Given the description of an element on the screen output the (x, y) to click on. 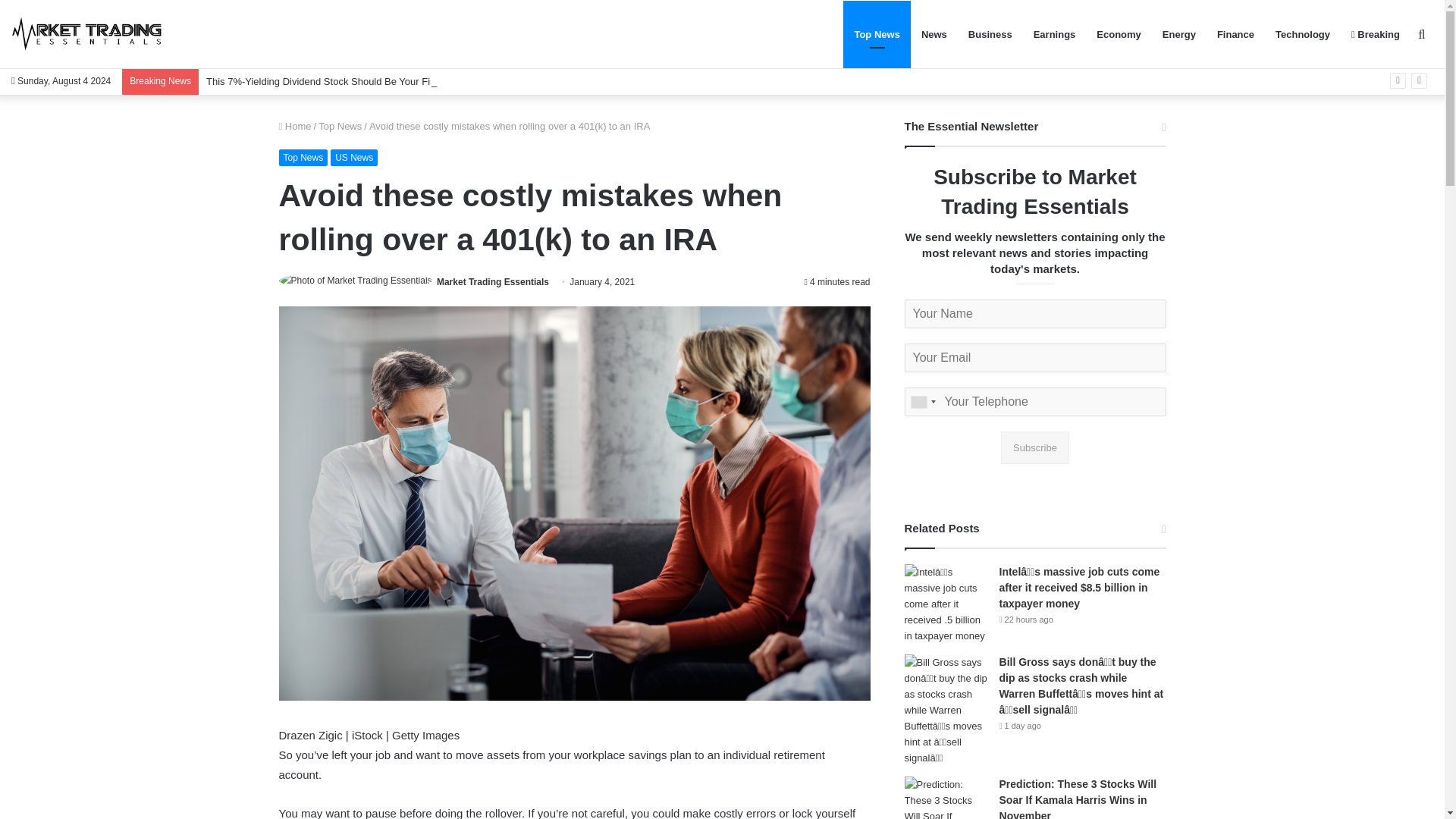
Technology (1302, 33)
US News (353, 157)
Home (295, 125)
Earnings (1054, 33)
Market Trading Essentials (87, 34)
Top News (876, 33)
Top News (339, 125)
Business (990, 33)
Market Trading Essentials (492, 281)
Breaking (1375, 33)
Economy (1118, 33)
Top News (304, 157)
Market Trading Essentials (492, 281)
